Given the description of an element on the screen output the (x, y) to click on. 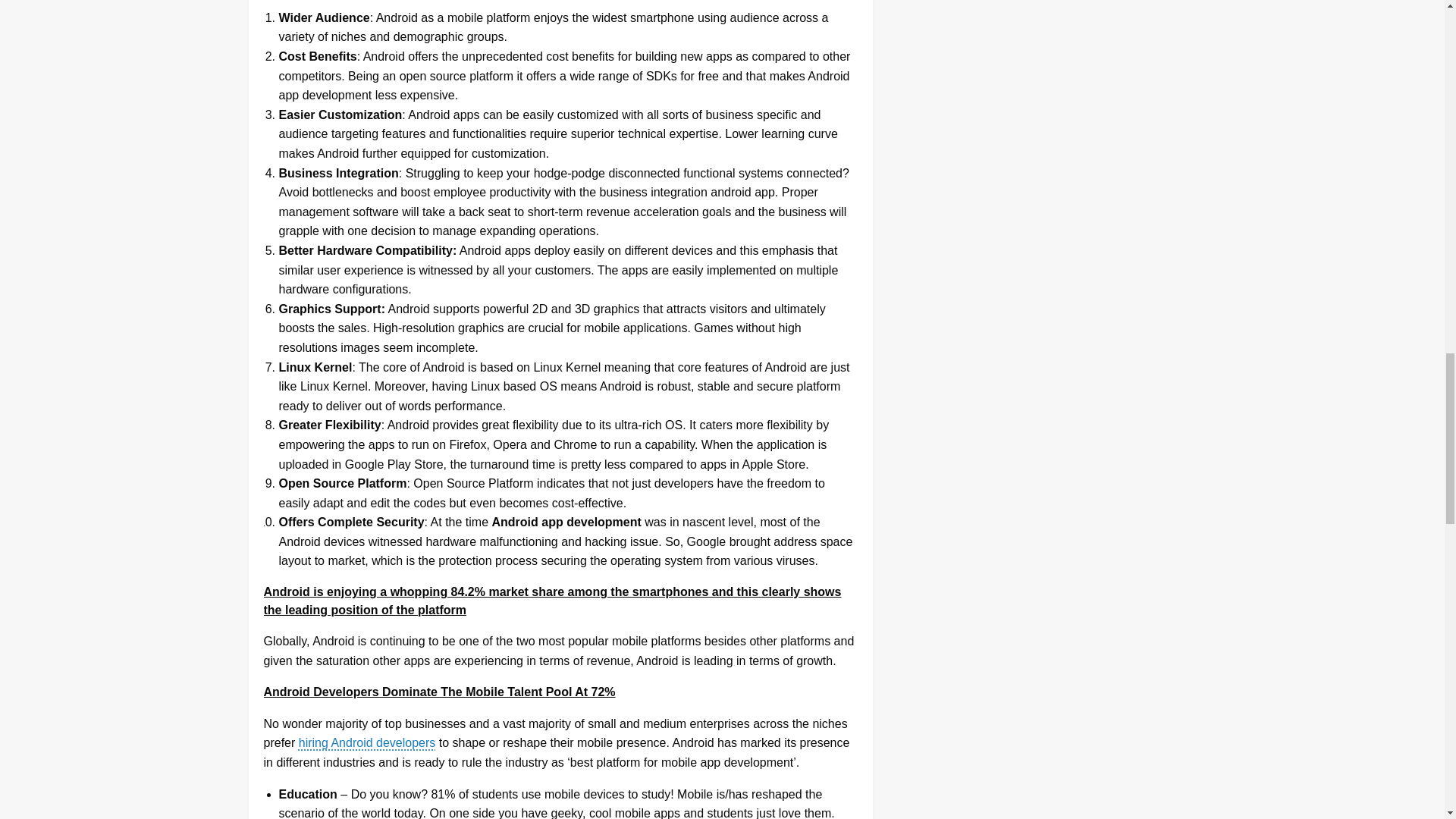
hiring Android developers (366, 742)
